Given the description of an element on the screen output the (x, y) to click on. 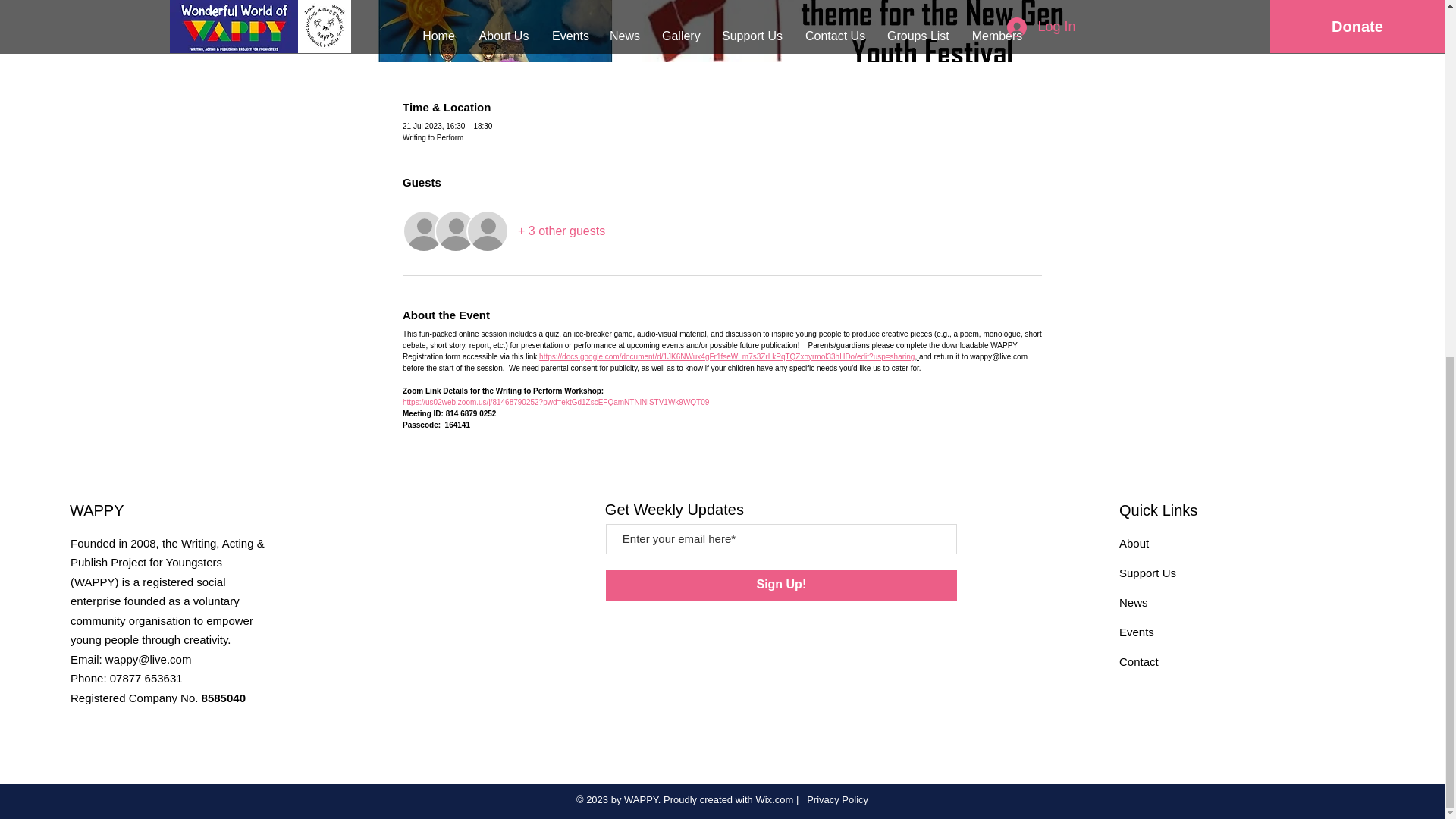
Sign Up! (780, 585)
About (1133, 543)
News (1133, 602)
Support Us (1147, 572)
